Given the description of an element on the screen output the (x, y) to click on. 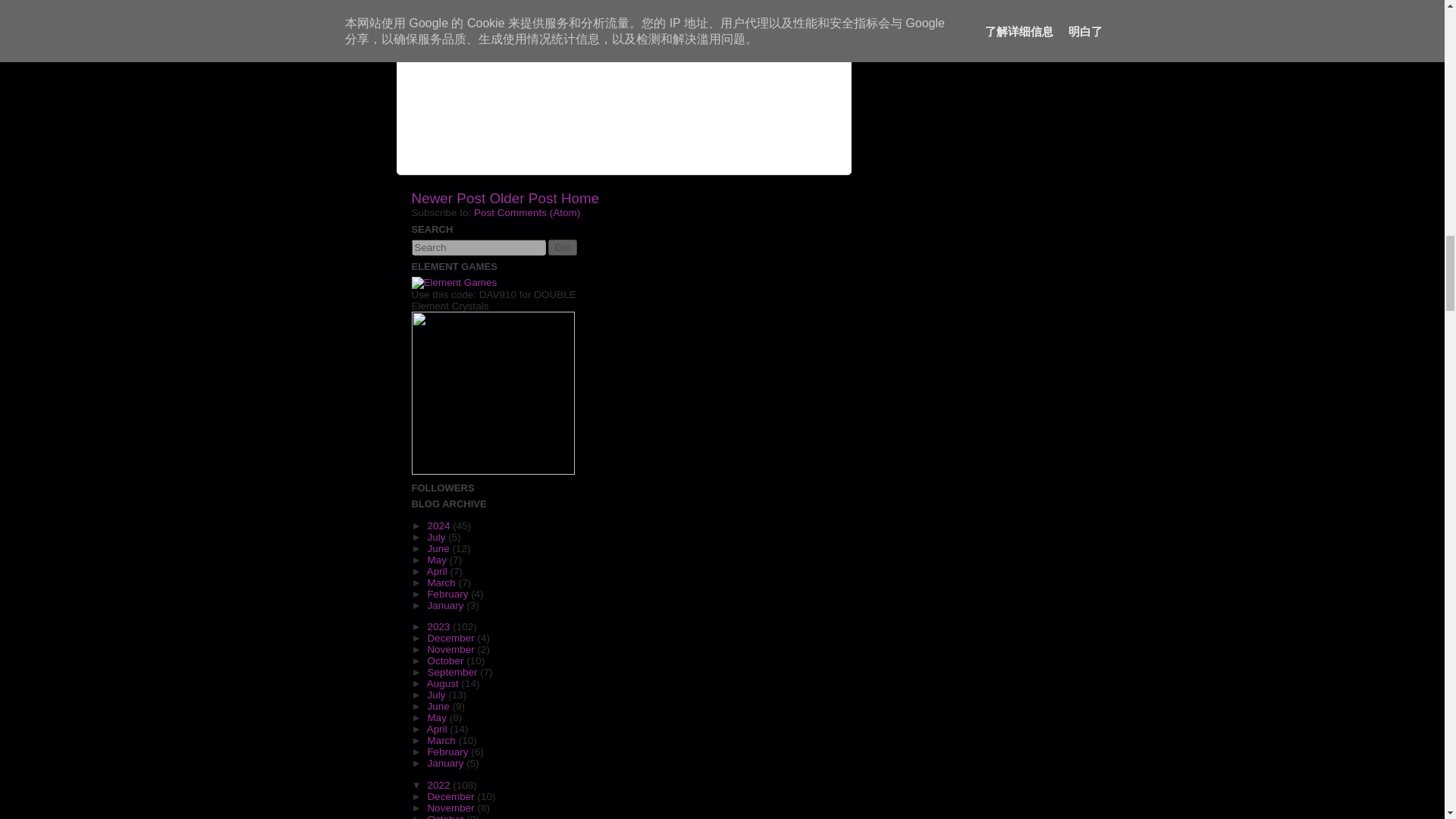
July (437, 536)
Newer Post (447, 198)
Go! (562, 247)
Newer Post (447, 198)
Older Post (522, 198)
Older Post (522, 198)
Search (477, 247)
Home (579, 198)
June (438, 548)
Go! (562, 247)
2024 (439, 525)
